Given the description of an element on the screen output the (x, y) to click on. 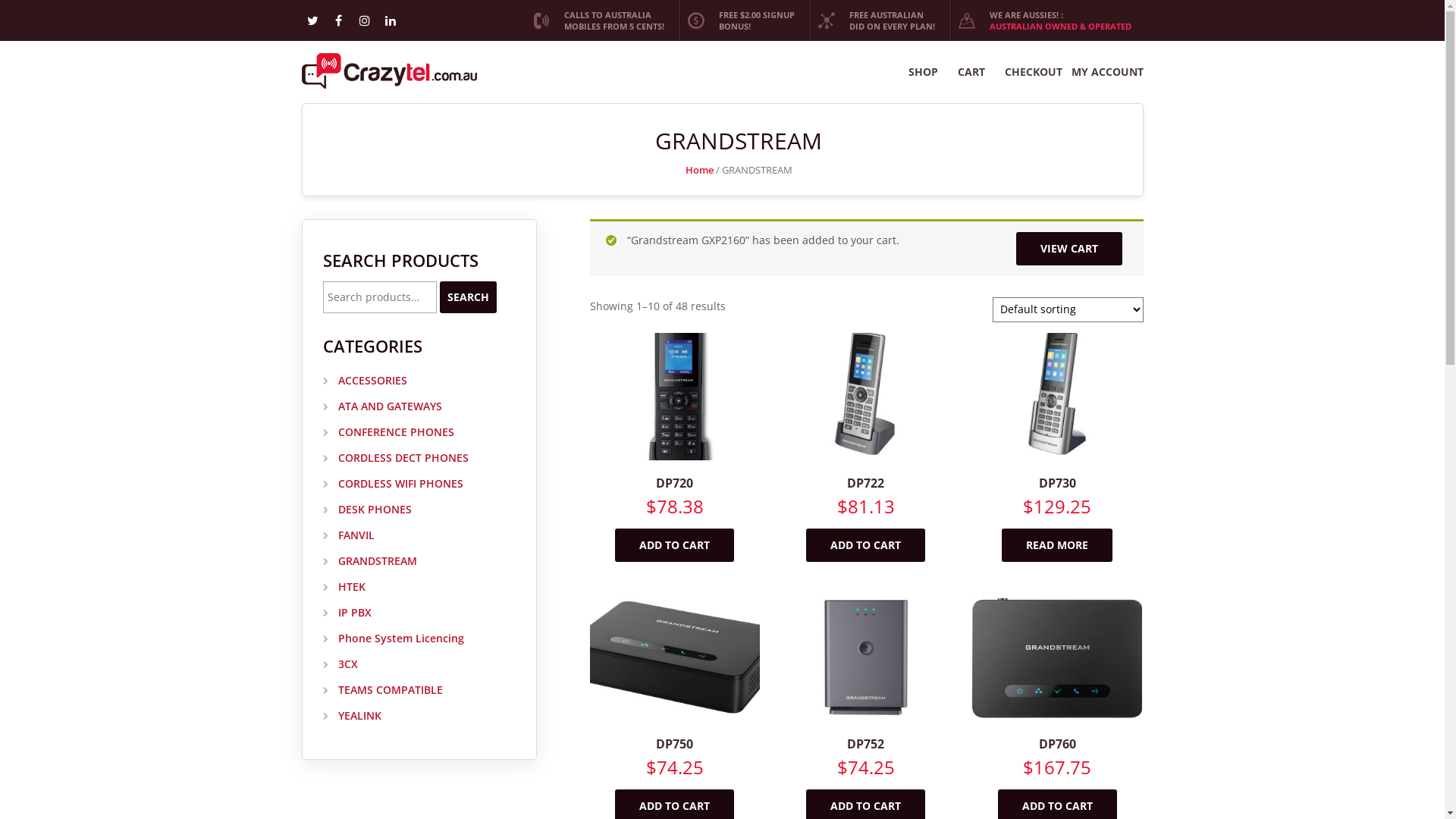
CORDLESS WIFI PHONES Element type: text (393, 483)
GRANDSTREAM Element type: text (370, 561)
DESK PHONES Element type: text (367, 509)
YEALINK Element type: text (352, 715)
HTEK Element type: text (344, 586)
TEAMS COMPATIBLE Element type: text (382, 690)
CONFERENCE PHONES Element type: text (388, 432)
CART Element type: text (970, 71)
CALLS TO AUSTRALIA
MOBILES FROM 5 CENTS! Element type: text (600, 20)
DP760
$167.75 Element type: text (1057, 702)
SHOP Element type: text (923, 71)
DP750
$74.25 Element type: text (674, 702)
DP720
$78.38 Element type: text (674, 442)
3CX Element type: text (340, 664)
WE ARE AUSSIES! :
AUSTRALIAN OWNED & OPERATED Element type: text (1045, 20)
FREE $2.00 SIGNUP
BONUS! Element type: text (742, 20)
FANVIL Element type: text (348, 535)
ADD TO CART Element type: text (865, 544)
IP PBX Element type: text (347, 612)
DP730
$129.25 Element type: text (1057, 442)
ACCESSORIES Element type: text (365, 380)
CORDLESS DECT PHONES Element type: text (395, 457)
Phone System Licencing Element type: text (393, 638)
ADD TO CART Element type: text (674, 544)
CHECKOUT Element type: text (1032, 71)
ATA AND GATEWAYS Element type: text (382, 406)
SEARCH Element type: text (467, 297)
FREE AUSTRALIAN
DID ON EVERY PLAN! Element type: text (878, 20)
DP752
$74.25 Element type: text (865, 702)
Home Element type: text (699, 169)
VIEW CART Element type: text (1069, 248)
DP722
$81.13 Element type: text (865, 442)
READ MORE Element type: text (1056, 544)
MY ACCOUNT Element type: text (1106, 71)
